Given the description of an element on the screen output the (x, y) to click on. 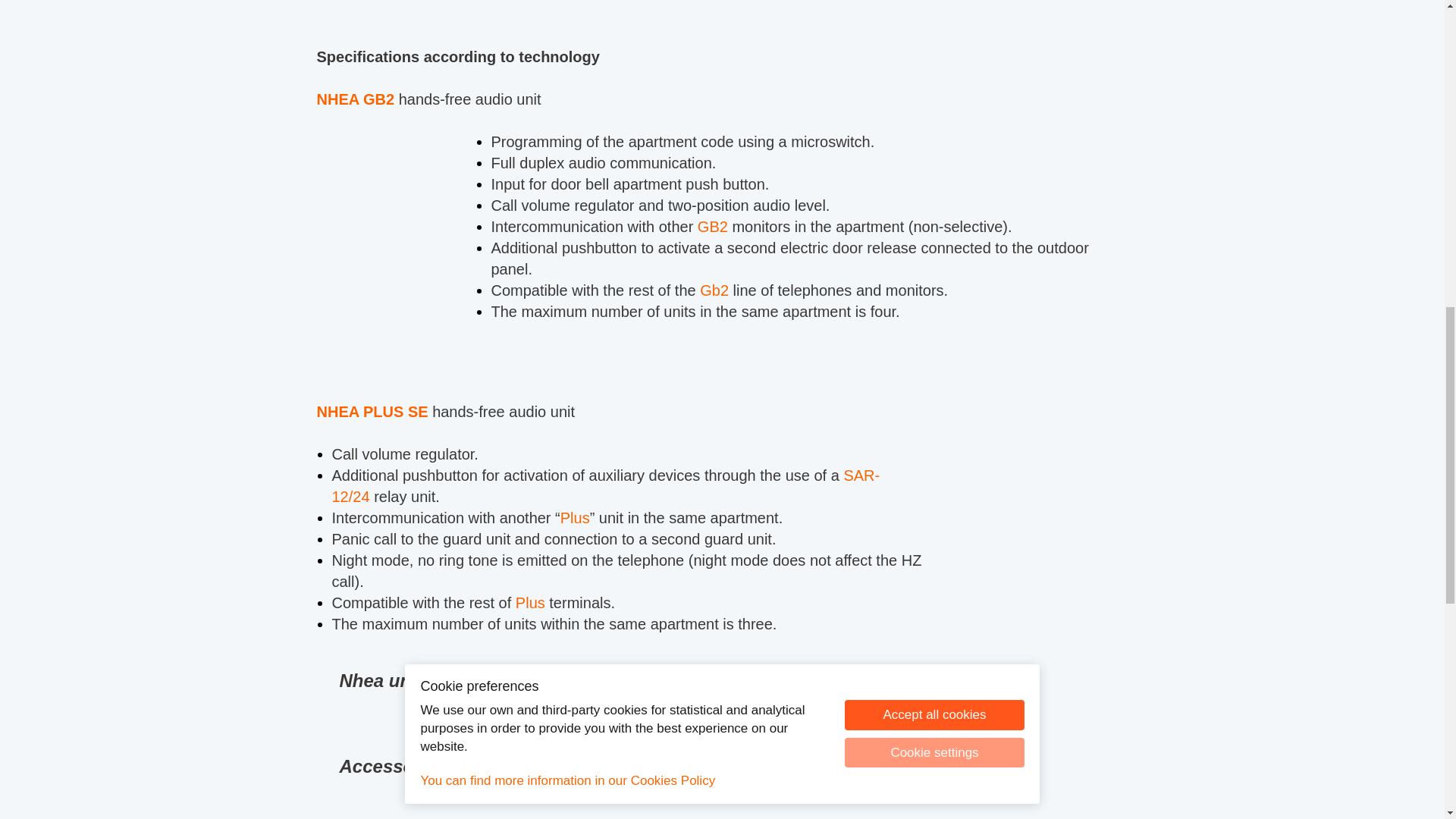
Plus (574, 517)
NHEA GB2 (355, 98)
GB2 (712, 226)
Plus (529, 602)
Gb2 (714, 289)
NHEA PLUS SE (372, 411)
